Given the description of an element on the screen output the (x, y) to click on. 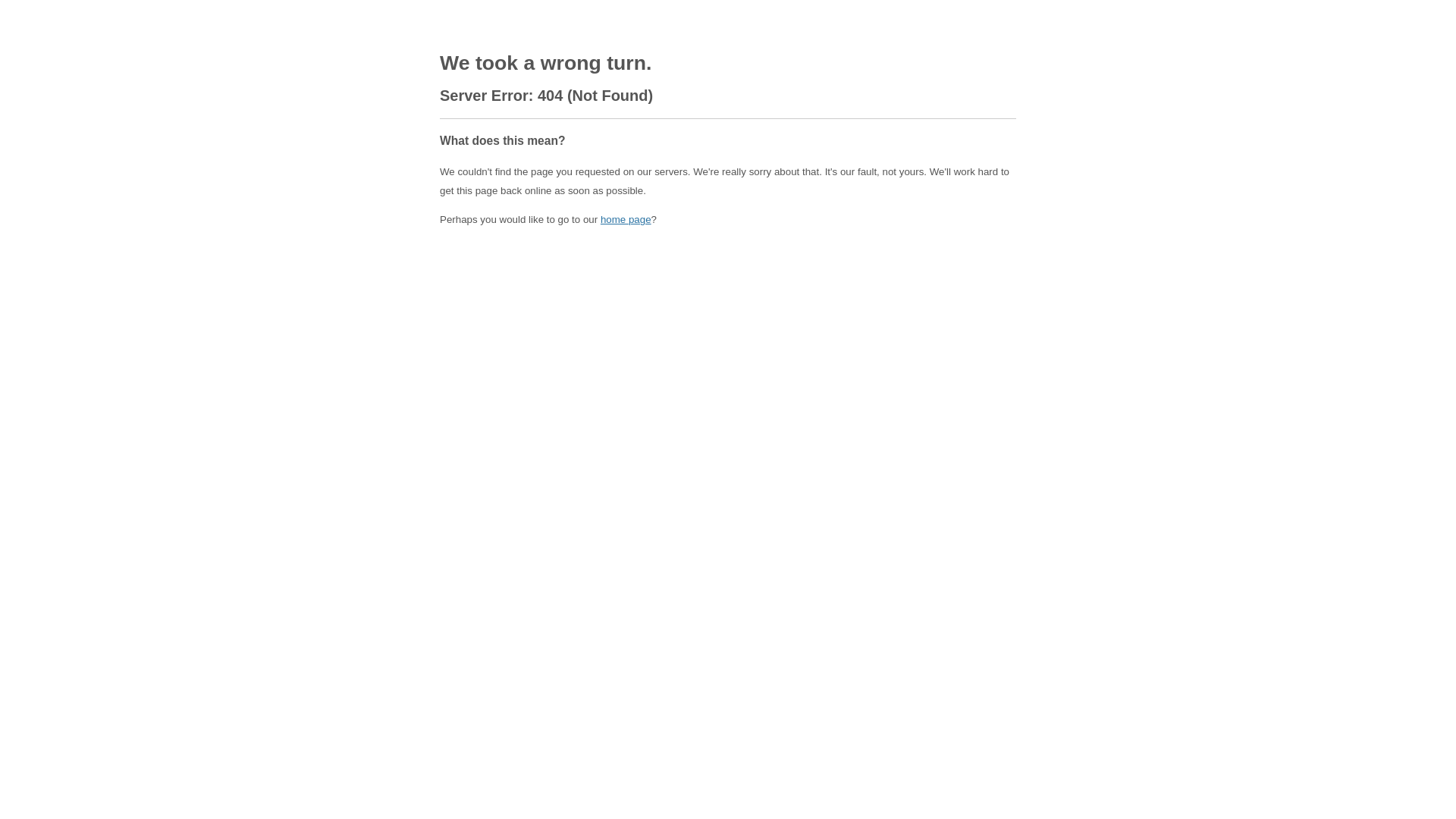
home page Element type: text (625, 219)
